Given the description of an element on the screen output the (x, y) to click on. 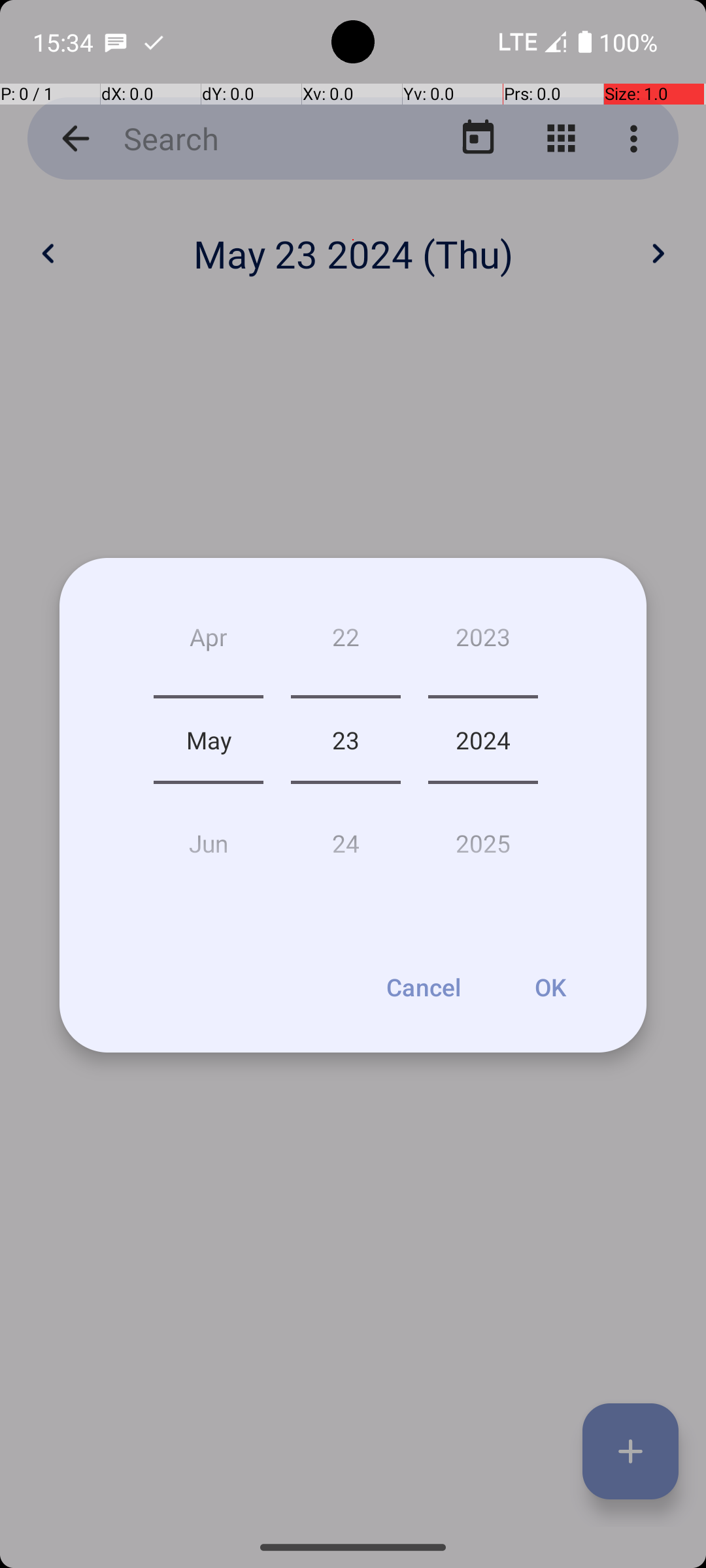
Apr Element type: android.widget.Button (208, 641)
May Element type: android.widget.EditText (208, 739)
Jun Element type: android.widget.Button (208, 837)
2025 Element type: android.widget.Button (482, 837)
